Given the description of an element on the screen output the (x, y) to click on. 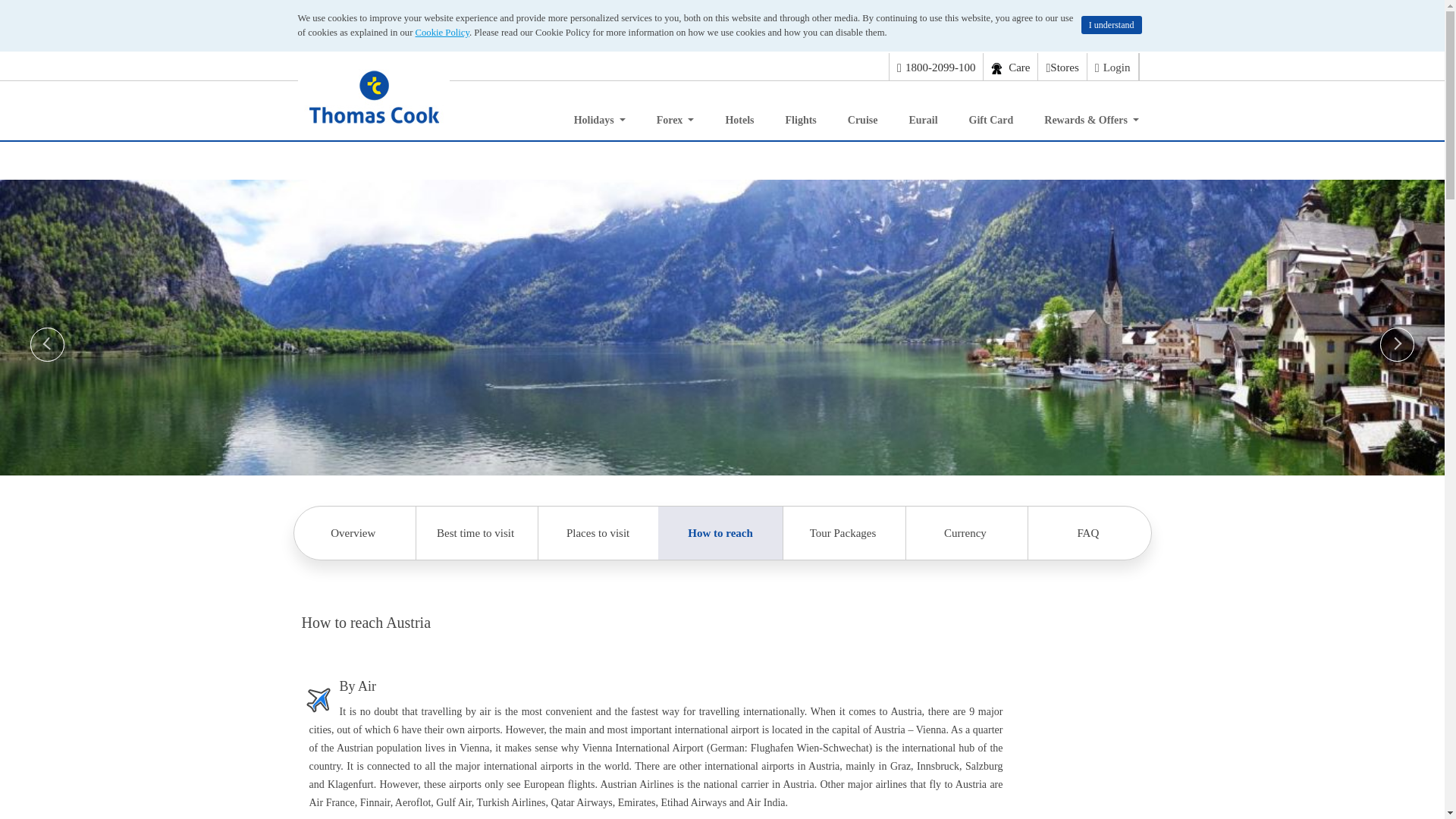
Cookie Policy (441, 32)
Stores (1061, 66)
1800-2099-100 (935, 66)
Holidays (599, 116)
Care (1009, 66)
Login (1112, 66)
